Given the description of an element on the screen output the (x, y) to click on. 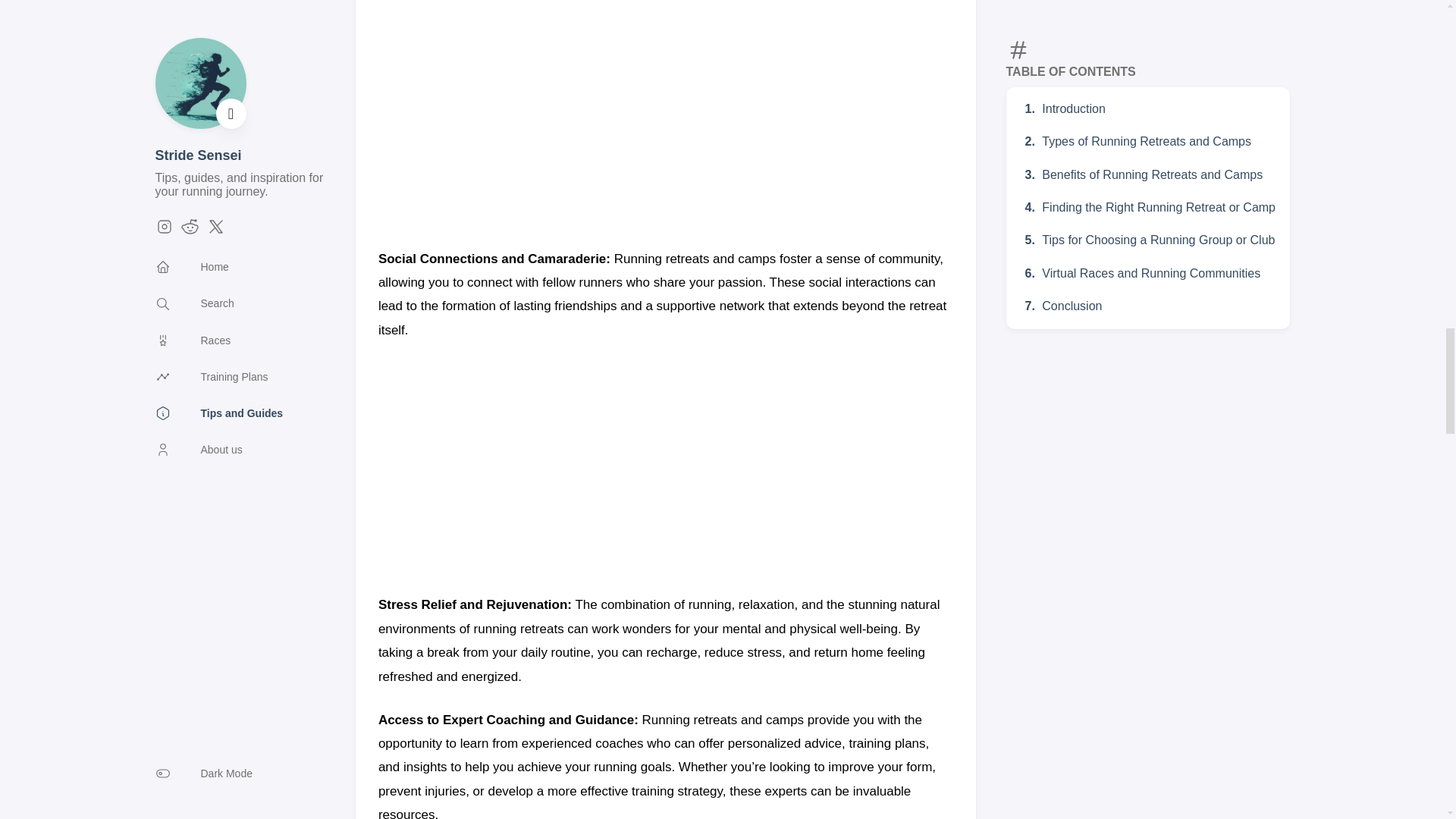
Advertisement (665, 467)
Advertisement (665, 121)
